Given the description of an element on the screen output the (x, y) to click on. 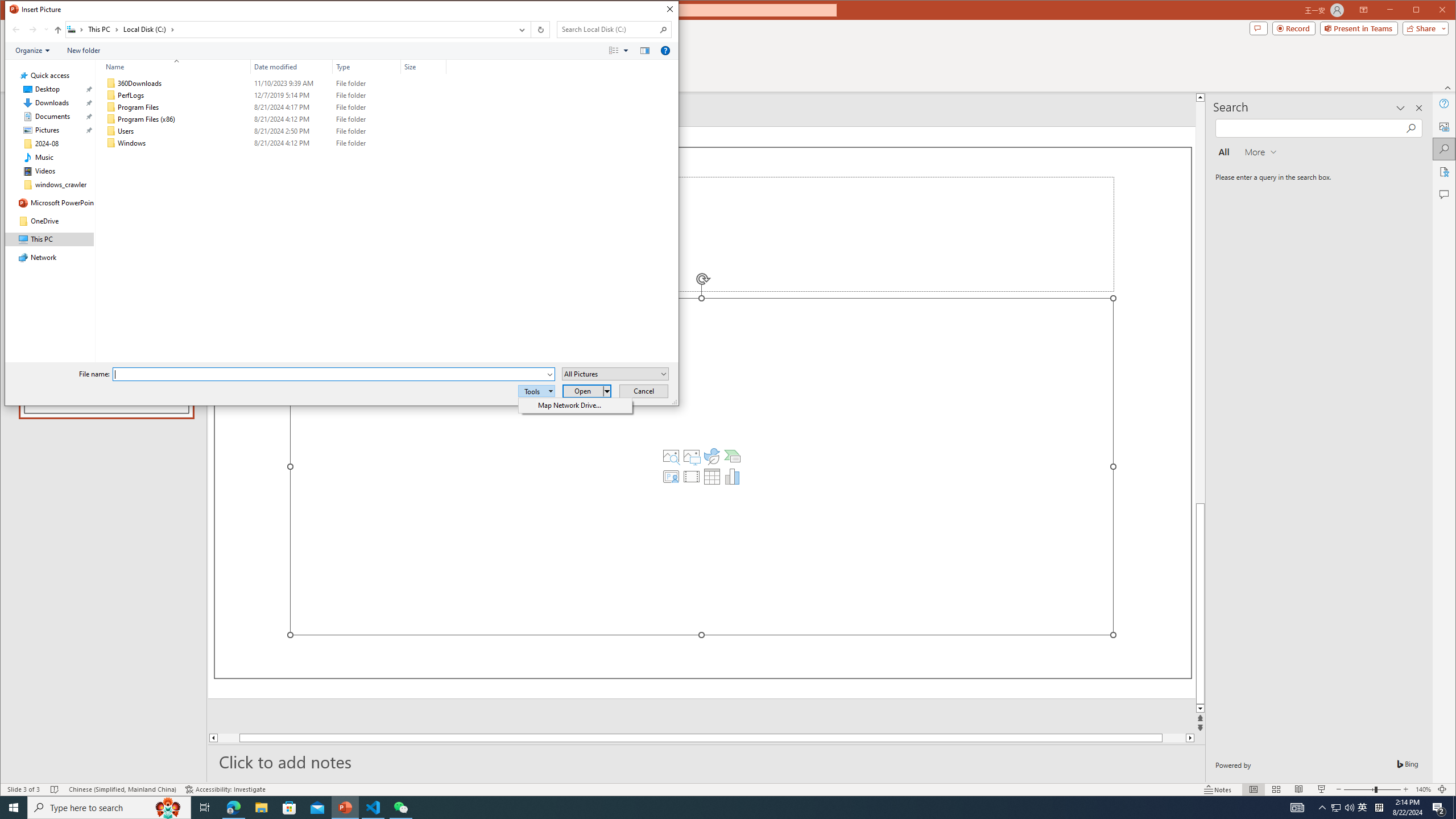
Insert a SmartArt Graphic (732, 456)
Class: MsoCommandBar (728, 789)
Page up (1200, 302)
Program Files (x86) (273, 119)
Address band toolbar (530, 29)
Size (423, 142)
Tools (536, 390)
Microsoft Edge - 1 running window (233, 807)
Refresh "Local Disk (C:)" (F5) (538, 29)
Up to "This PC" (Alt + Up Arrow) (57, 29)
AutomationID: 4105 (1297, 807)
